Given the description of an element on the screen output the (x, y) to click on. 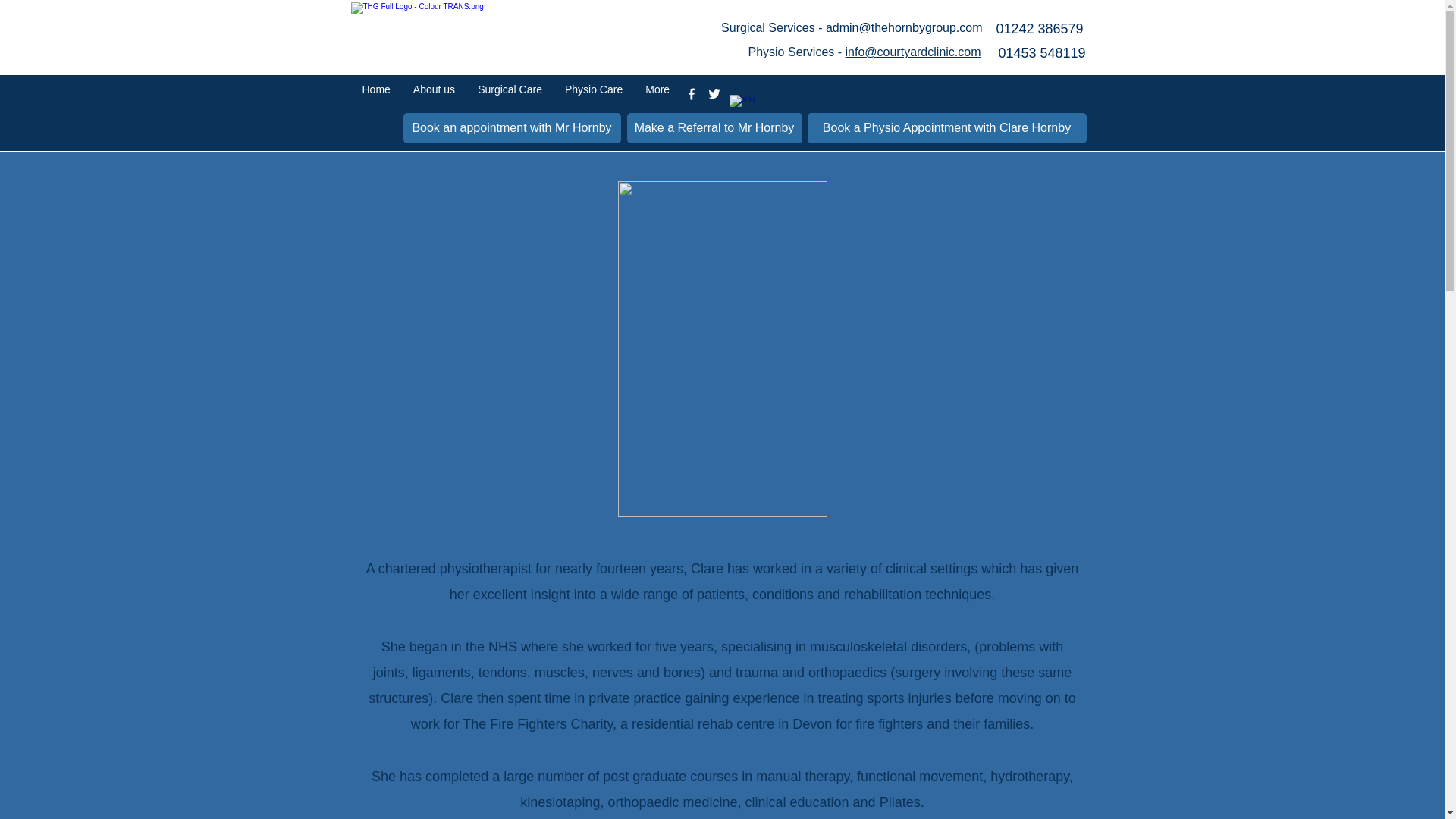
Book a Physio Appointment with Clare Hornby (946, 128)
Home (375, 93)
About us (433, 93)
Book an appointment with Mr Hornby (512, 128)
Physio Care (593, 93)
Make a Referral to Mr Hornby (714, 128)
Surgical Care (509, 93)
